Given the description of an element on the screen output the (x, y) to click on. 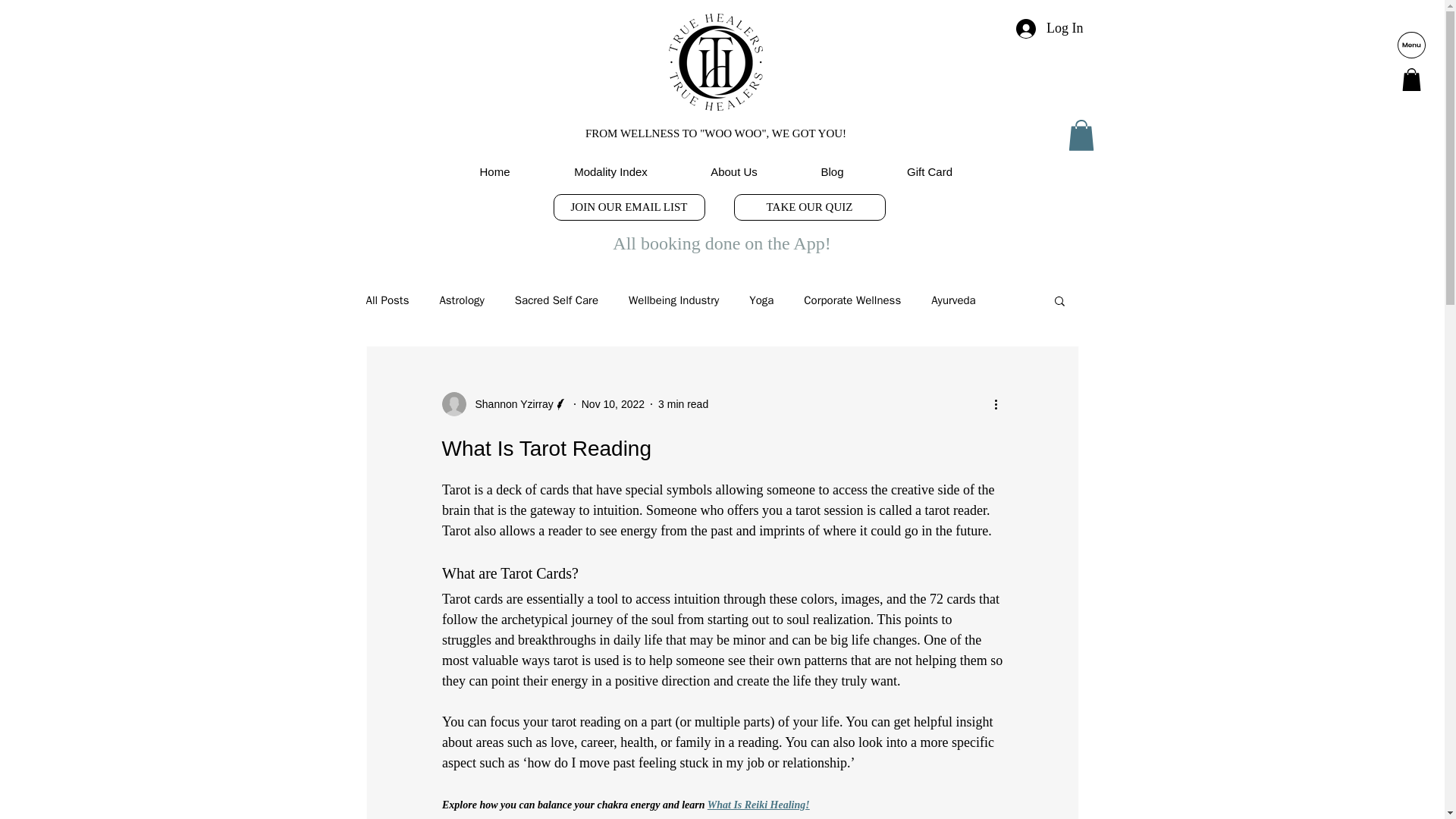
TAKE OUR QUIZ (809, 207)
Sacred Self Care (556, 300)
JOIN OUR EMAIL LIST (628, 207)
Log In (1050, 28)
Nov 10, 2022 (612, 404)
Home (494, 171)
About Us (734, 171)
Wellbeing Industry (673, 300)
3 min read (682, 404)
Shannon Yzirray (504, 404)
